Given the description of an element on the screen output the (x, y) to click on. 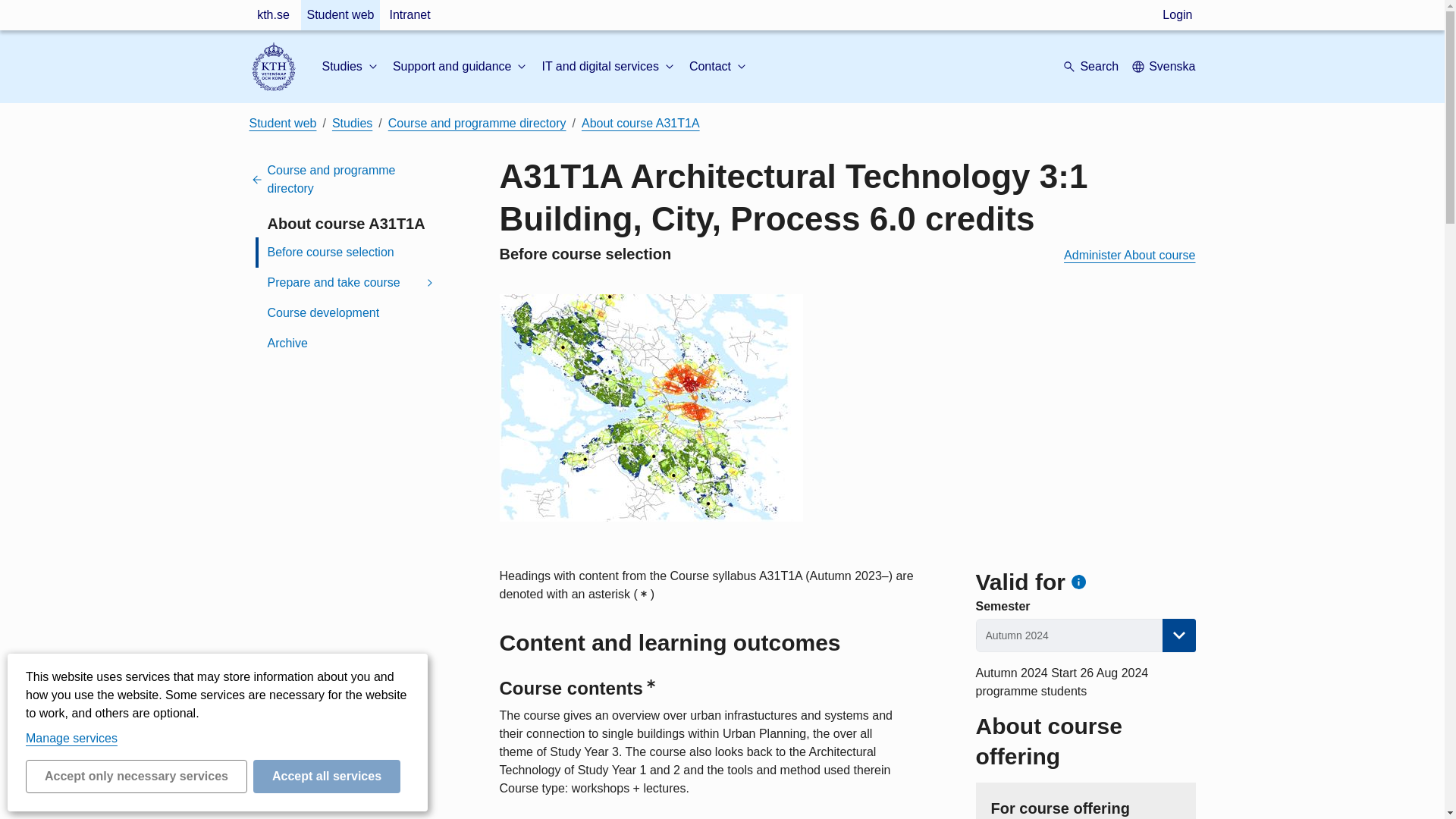
Student web (339, 15)
Contact (718, 66)
IT and digital services (609, 66)
kth.se (272, 15)
Login (1176, 15)
Support and guidance (461, 66)
Studies (350, 66)
Intranet (408, 15)
Administer About course (1129, 254)
